Given the description of an element on the screen output the (x, y) to click on. 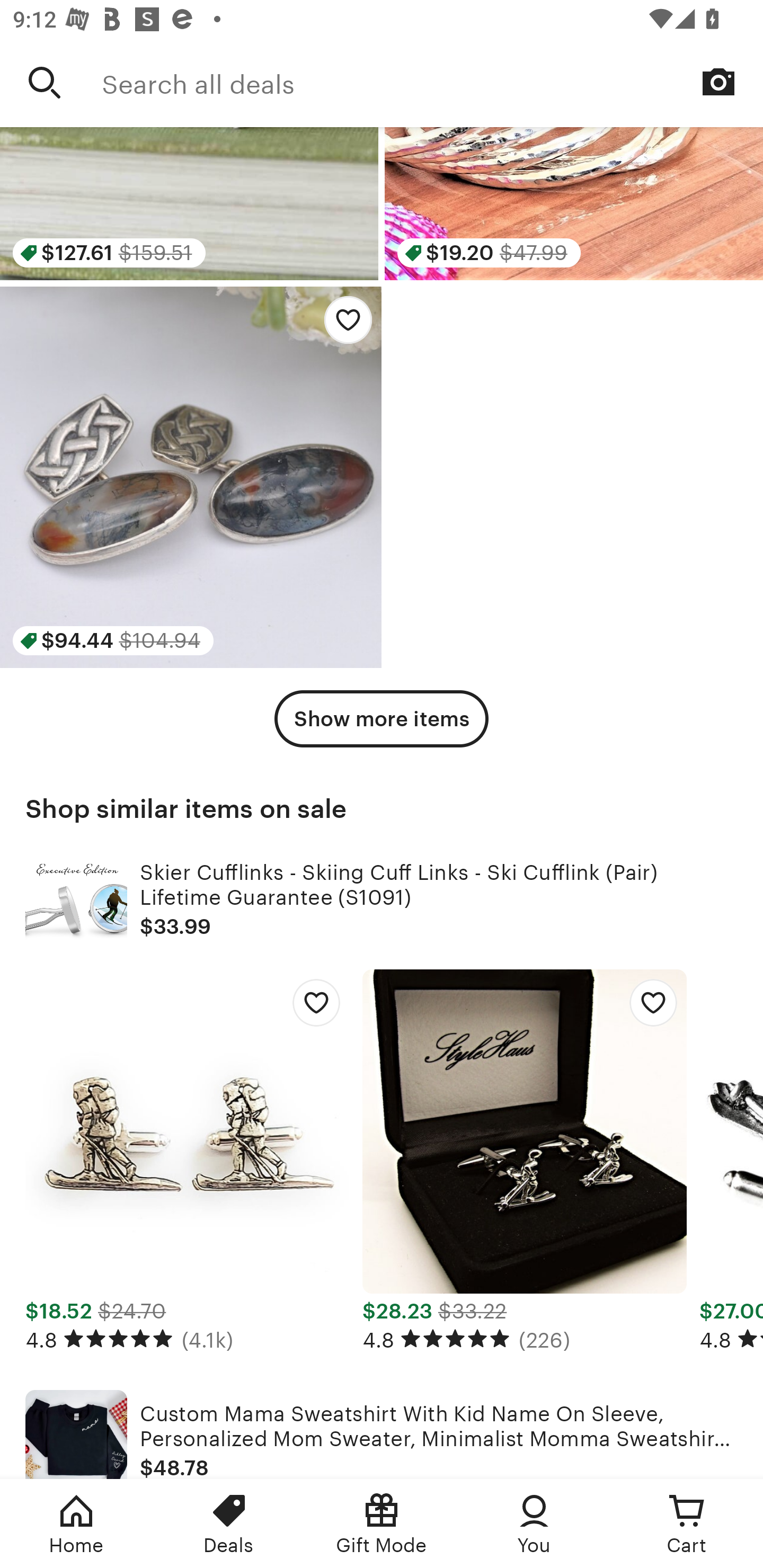
Search for anything on Etsy (44, 82)
Search by image (718, 81)
Search all deals (432, 82)
Show more items (381, 718)
Home (76, 1523)
Gift Mode (381, 1523)
You (533, 1523)
Cart (686, 1523)
